Given the description of an element on the screen output the (x, y) to click on. 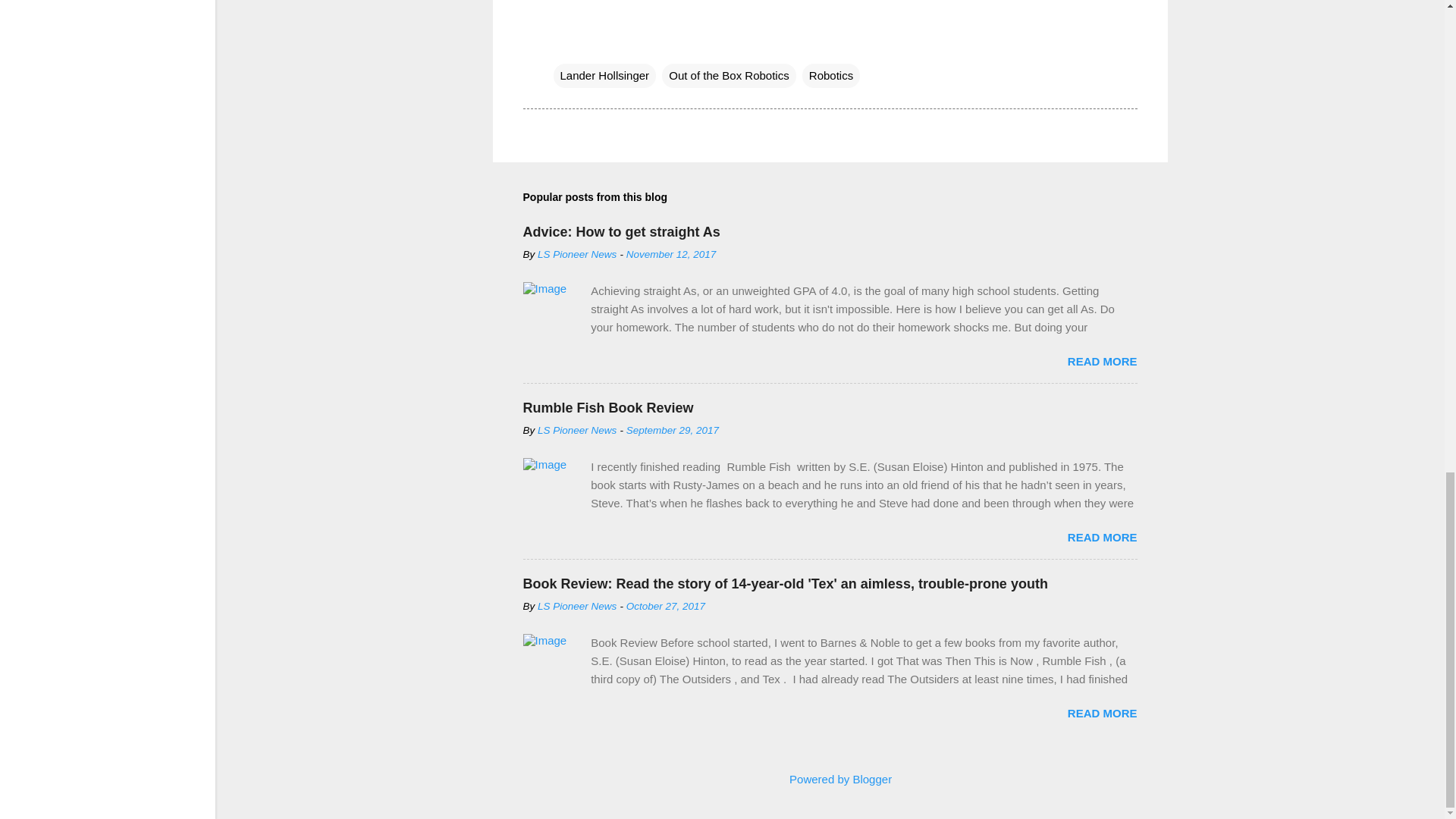
READ MORE (1102, 360)
Email Post (562, 43)
Robotics (831, 75)
READ MORE (1102, 536)
September 29, 2017 (672, 430)
Rumble Fish Book Review (608, 407)
Advice: How to get straight As (621, 231)
LS Pioneer News (576, 254)
LS Pioneer News (576, 430)
